Given the description of an element on the screen output the (x, y) to click on. 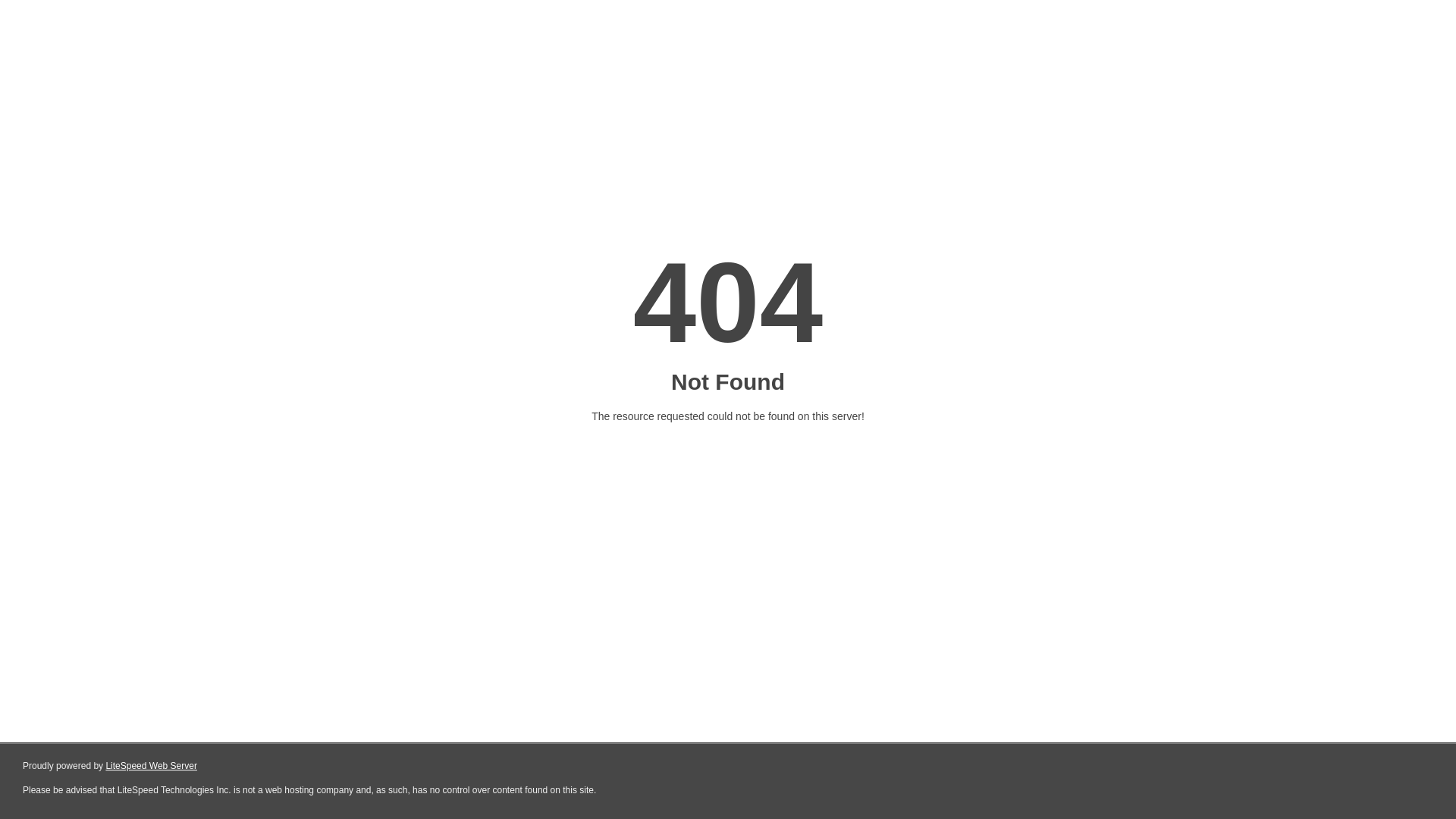
LiteSpeed Web Server Element type: text (151, 765)
